Given the description of an element on the screen output the (x, y) to click on. 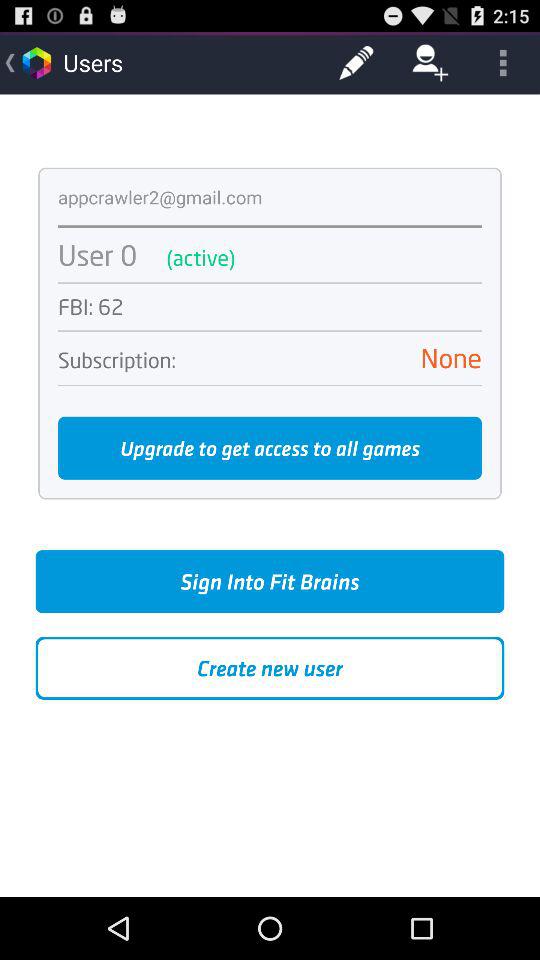
scroll until user 0 (97, 254)
